Given the description of an element on the screen output the (x, y) to click on. 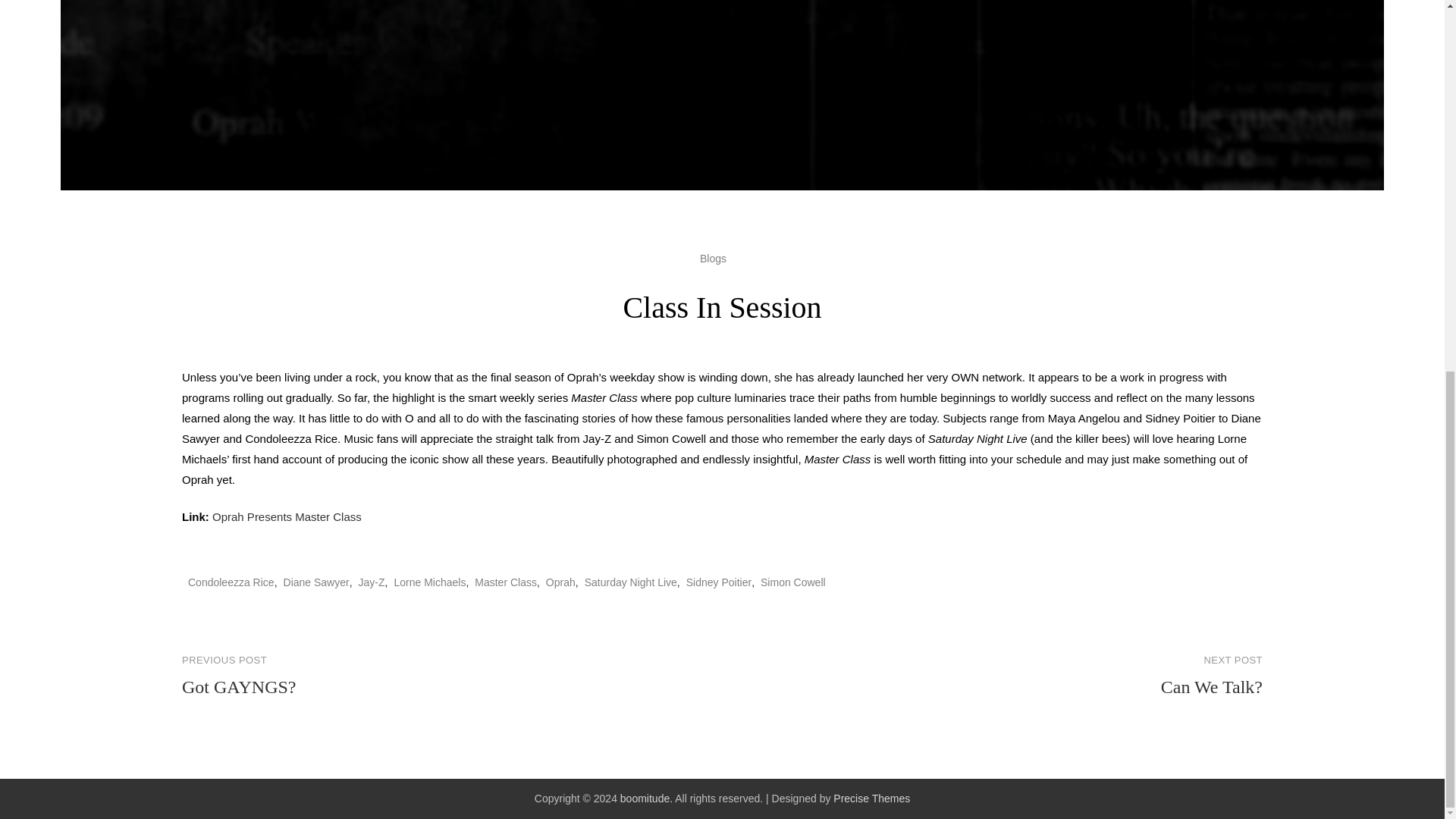
Lorne Michaels (429, 582)
Sidney Poitier (718, 582)
boomitude. (646, 798)
Precise Themes (871, 798)
Condoleezza Rice (231, 582)
Oprah (560, 582)
Oprah Presents Master Class (452, 676)
Saturday Night Live (286, 516)
Blogs (631, 582)
